Given the description of an element on the screen output the (x, y) to click on. 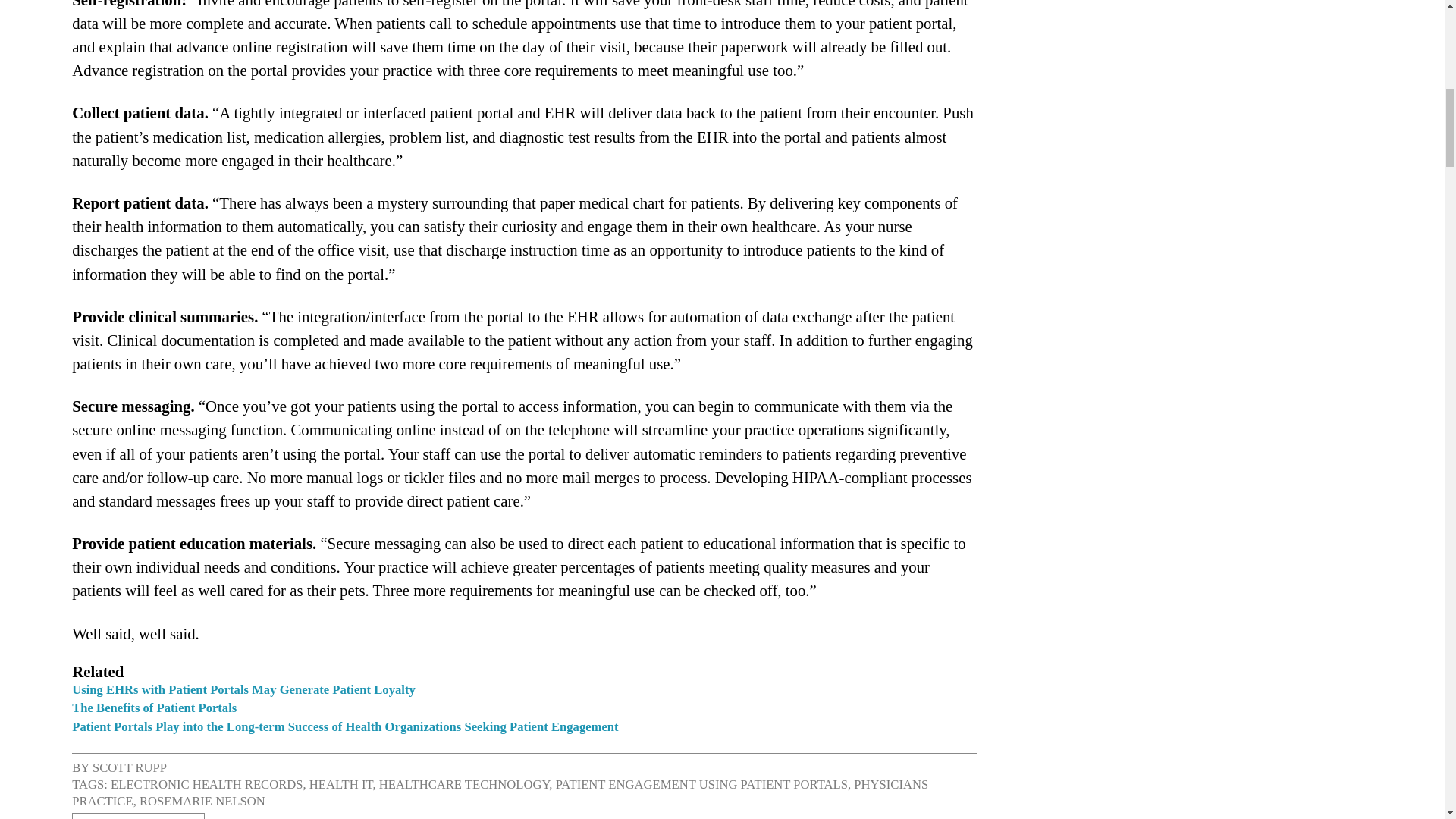
PATIENT ENGAGEMENT USING PATIENT PORTALS (701, 784)
The Benefits of Patient Portals (153, 707)
WRITE A COMMENT (138, 816)
ELECTRONIC HEALTH RECORDS (206, 784)
PHYSICIANS PRACTICE (499, 792)
HEALTHCARE TECHNOLOGY (464, 784)
Using EHRs with Patient Portals May Generate Patient Loyalty (242, 689)
SCOTT RUPP (130, 767)
Using EHRs with Patient Portals May Generate Patient Loyalty (242, 689)
